Given the description of an element on the screen output the (x, y) to click on. 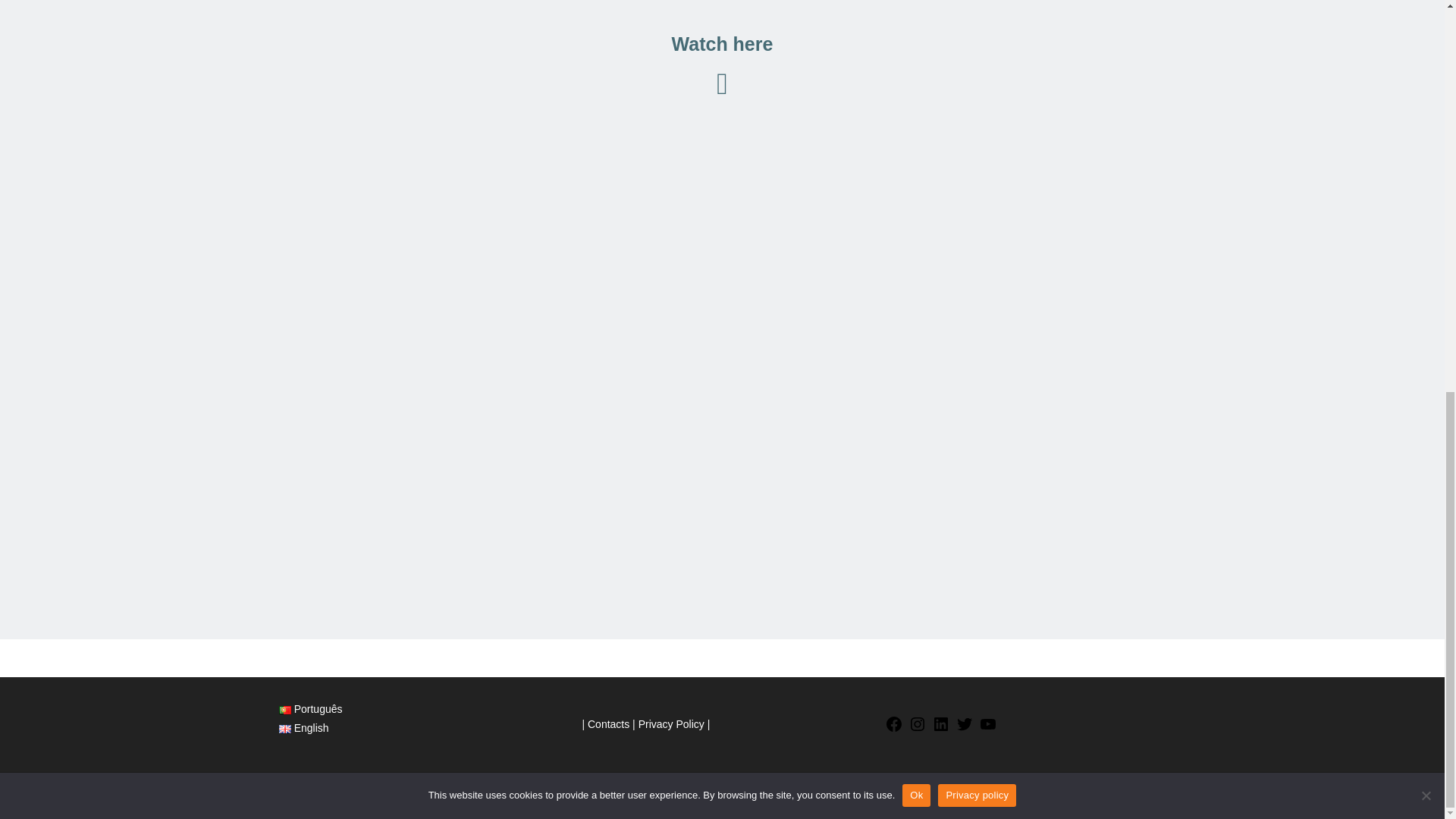
English (304, 727)
No (1425, 45)
